Given the description of an element on the screen output the (x, y) to click on. 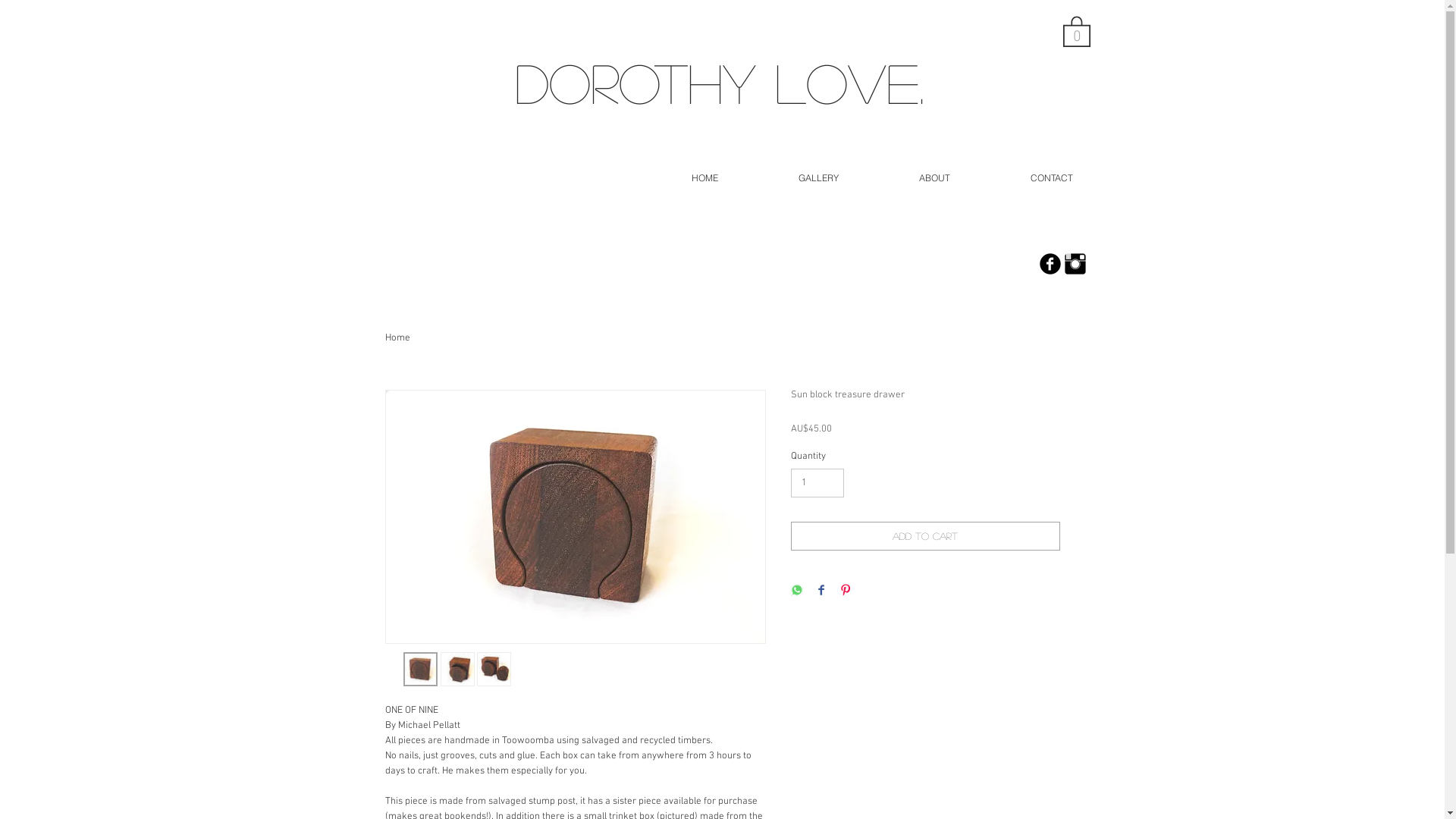
ABOUT Element type: text (933, 177)
HOME Element type: text (703, 177)
GALLERY Element type: text (818, 177)
0 Element type: text (1076, 30)
Add to Cart Element type: text (924, 535)
CONTACT Element type: text (1051, 177)
Home Element type: text (397, 338)
